Given the description of an element on the screen output the (x, y) to click on. 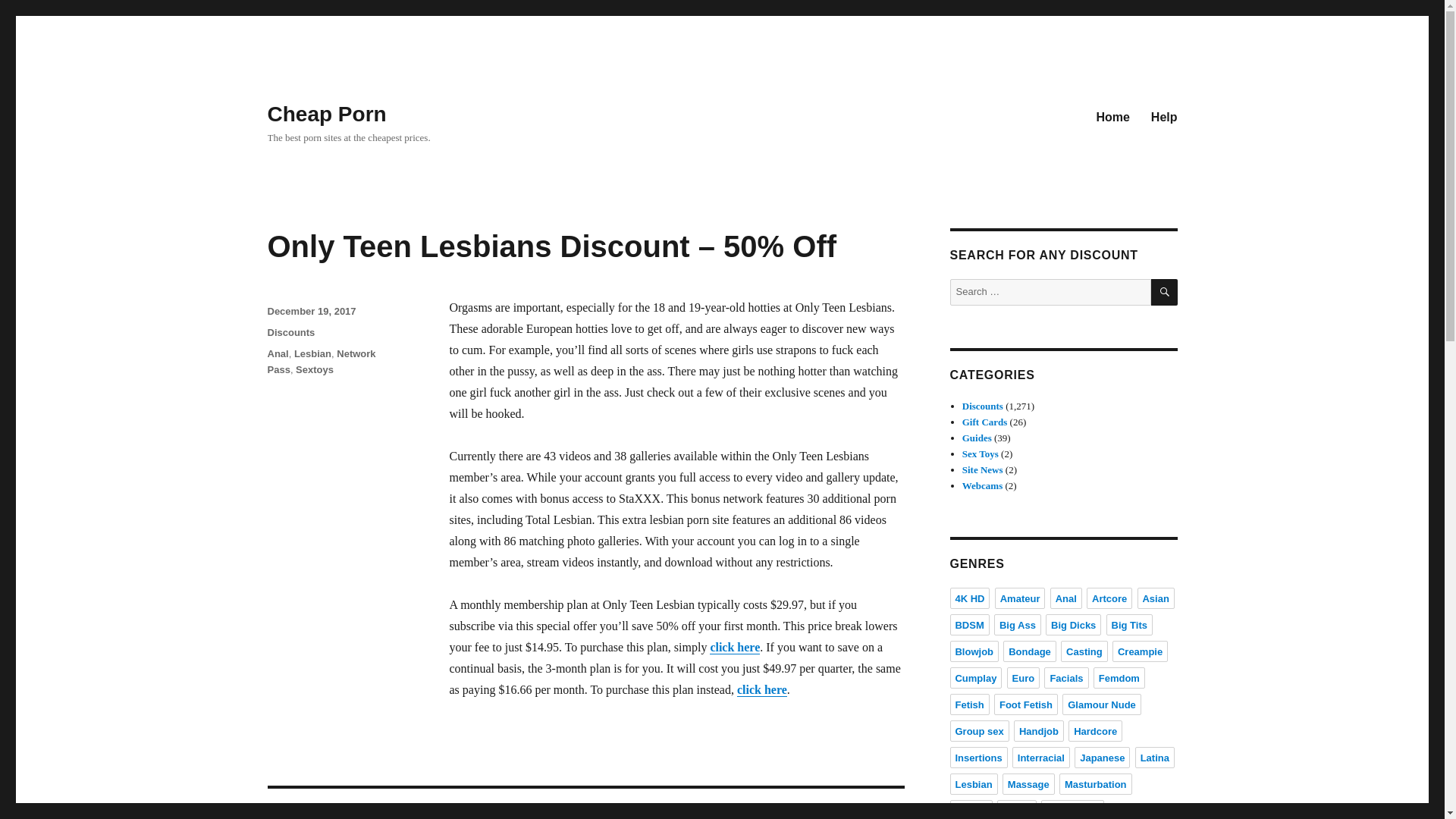
4K HD (969, 598)
Help (1164, 116)
December 19, 2017 (310, 310)
click here (761, 689)
Cheap Porn (325, 114)
BDSM (968, 624)
Anal (1065, 598)
Big Tits (1129, 624)
Big Ass (1017, 624)
Discounts (982, 405)
Discounts (290, 332)
Sex Toys (980, 453)
Gift Cards (984, 421)
Casting (1084, 650)
Lesbian (312, 353)
